Given the description of an element on the screen output the (x, y) to click on. 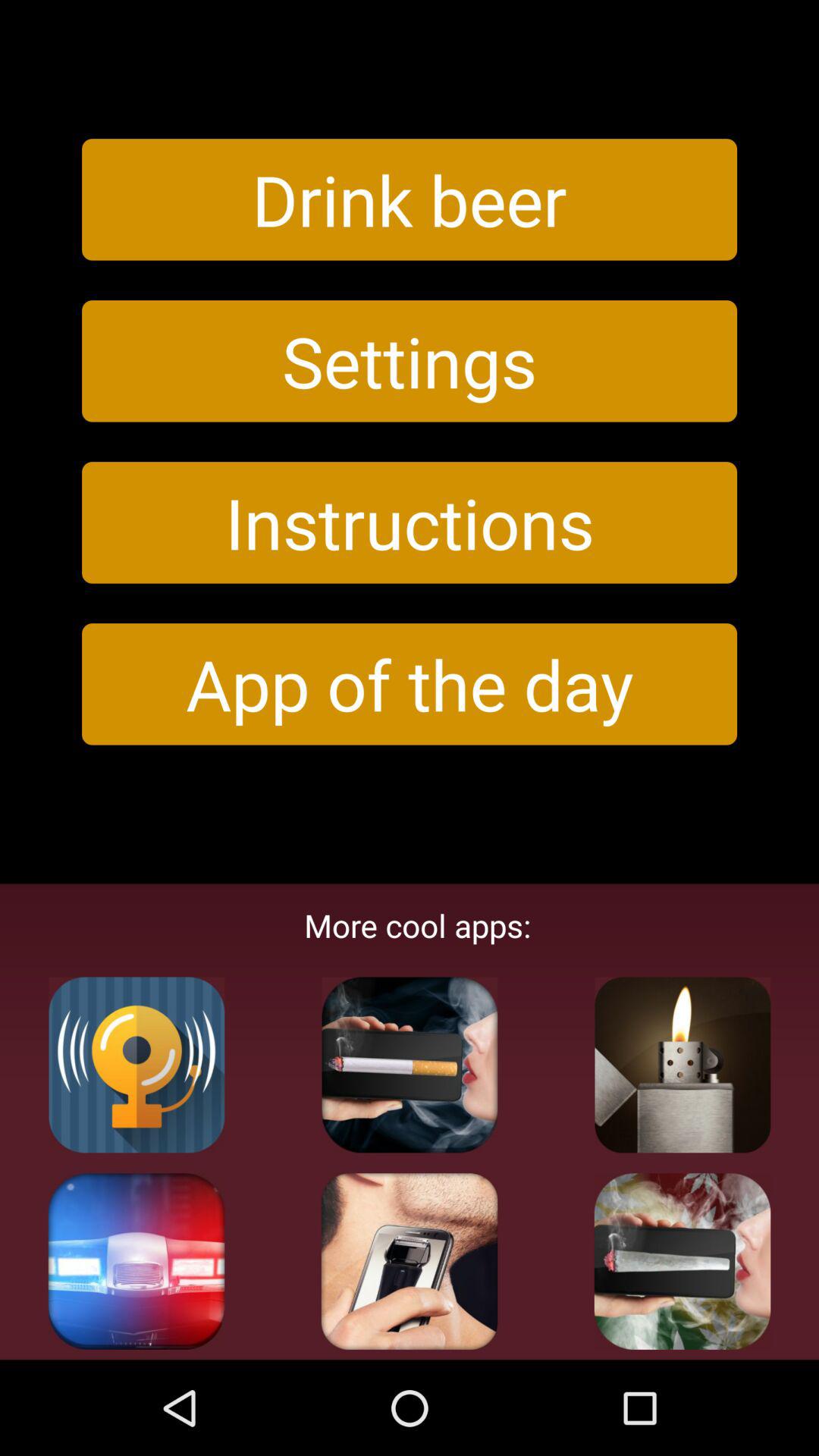
launch app of the item (409, 684)
